Given the description of an element on the screen output the (x, y) to click on. 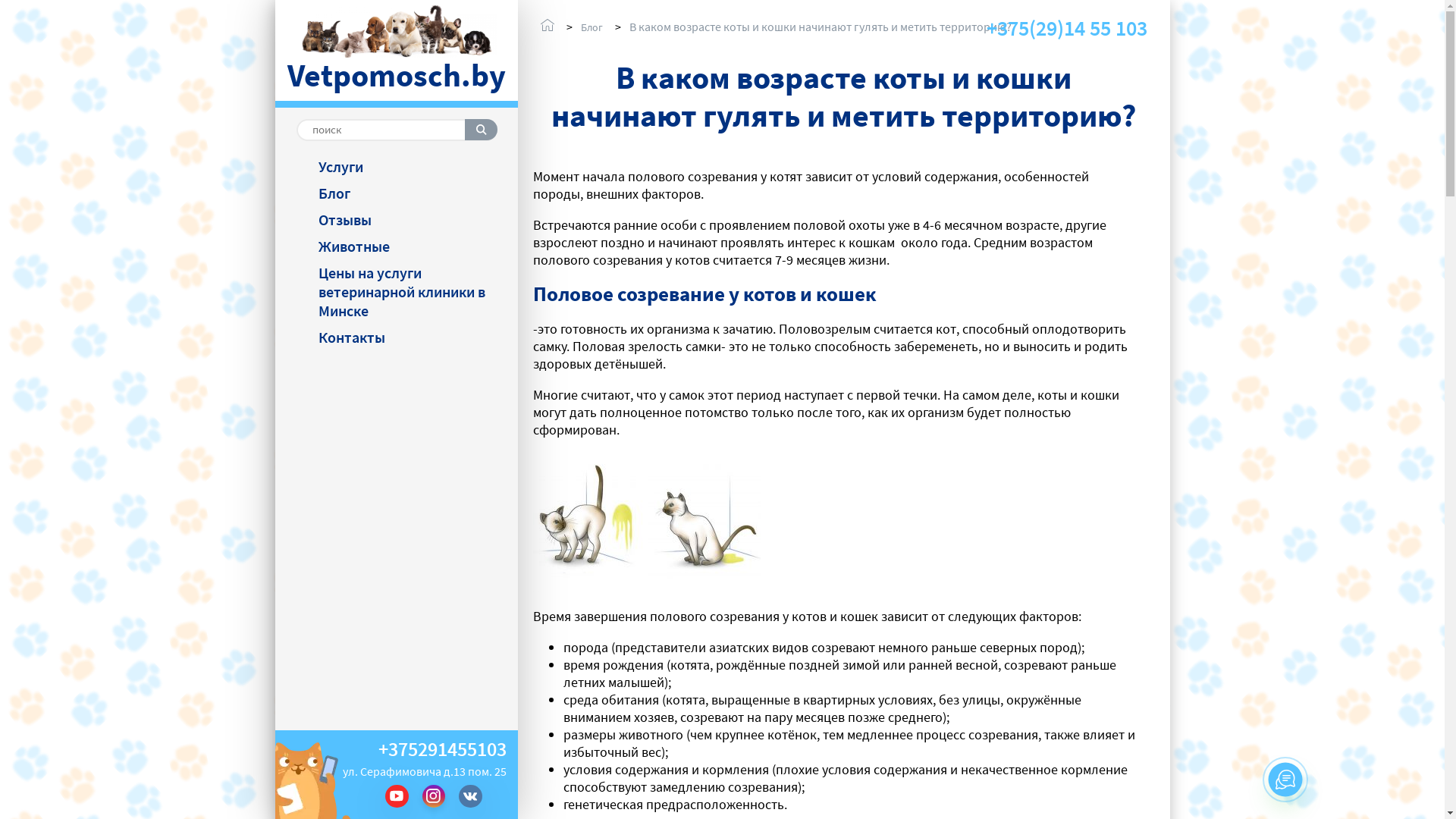
+375(29)14 55 103 Element type: text (1077, 28)
Vetpomosch.by Element type: text (396, 51)
+375291455103 Element type: text (441, 748)
